Given the description of an element on the screen output the (x, y) to click on. 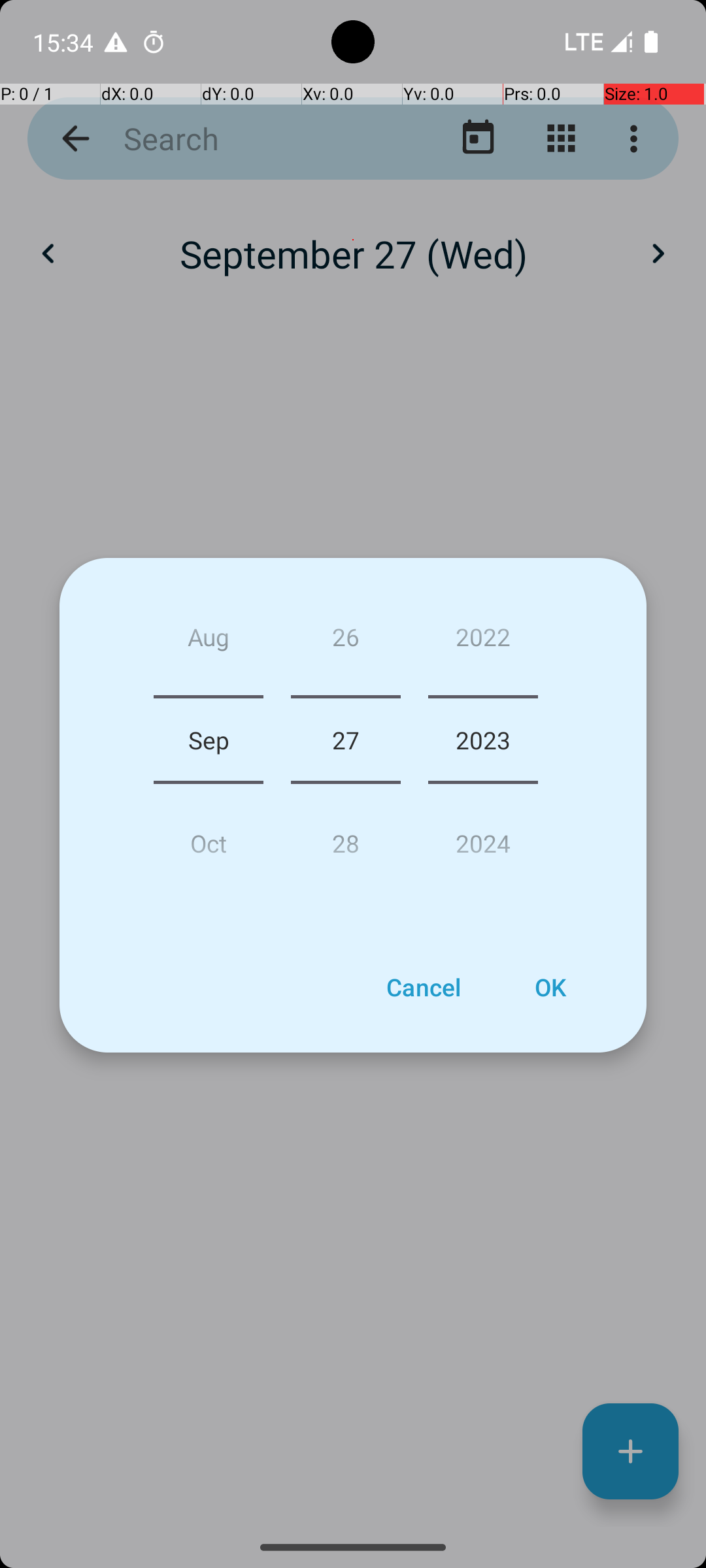
Aug Element type: android.widget.Button (208, 641)
Sep Element type: android.widget.EditText (208, 739)
Oct Element type: android.widget.Button (208, 837)
2022 Element type: android.widget.Button (482, 641)
2024 Element type: android.widget.Button (482, 837)
